Given the description of an element on the screen output the (x, y) to click on. 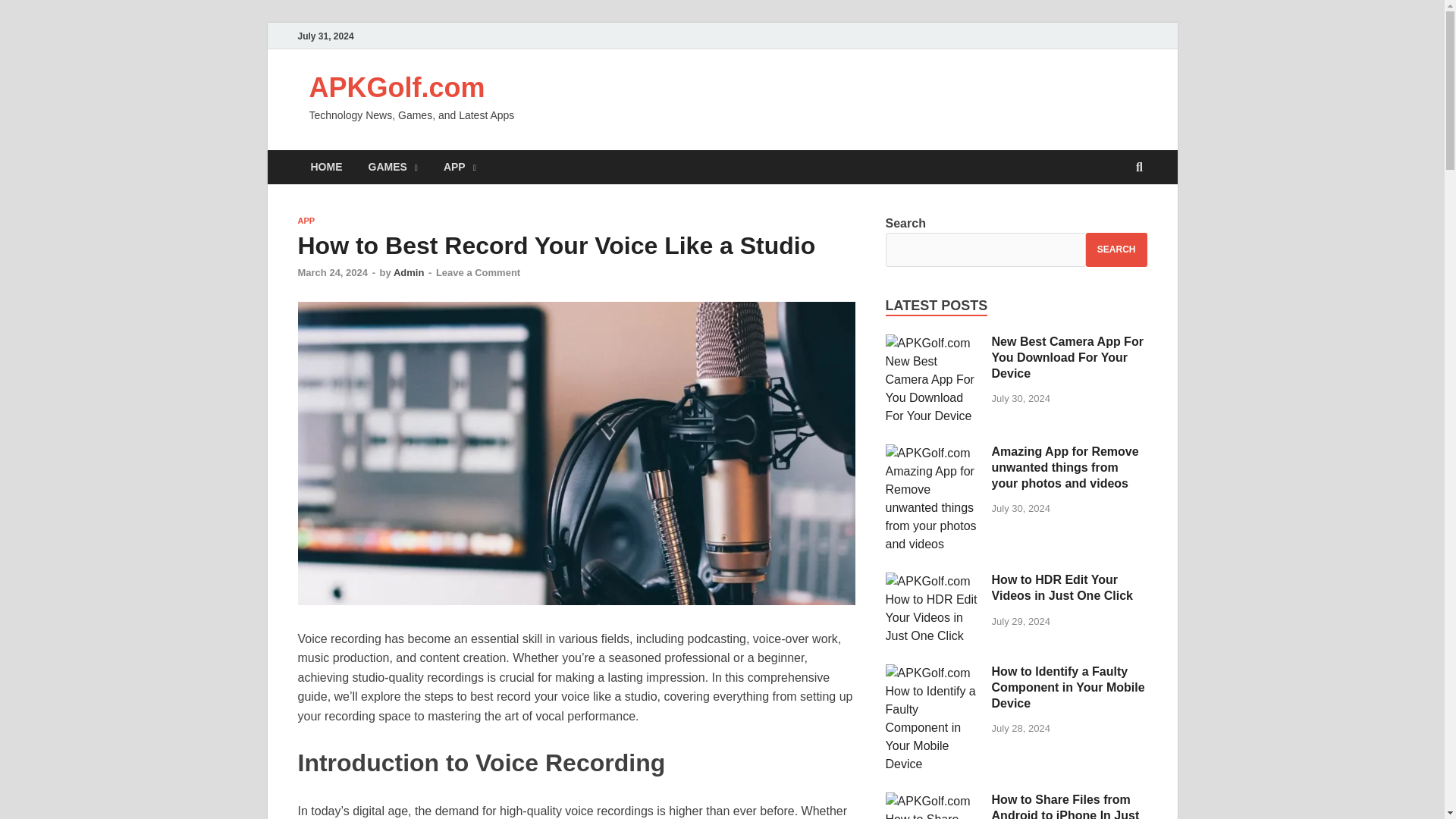
How to Share Files from Android to iPhone In Just One Click (1065, 806)
Admin (408, 272)
New Best Camera App For You Download For Your Device 5 (932, 379)
Leave a Comment (477, 272)
GAMES (392, 166)
APP (459, 166)
APP (305, 220)
March 24, 2024 (332, 272)
How to Identify a Faulty Component in Your Mobile Device (1067, 687)
New Best Camera App For You Download For Your Device (932, 342)
New Best Camera App For You Download For Your Device (1066, 357)
SEARCH (1116, 249)
